Given the description of an element on the screen output the (x, y) to click on. 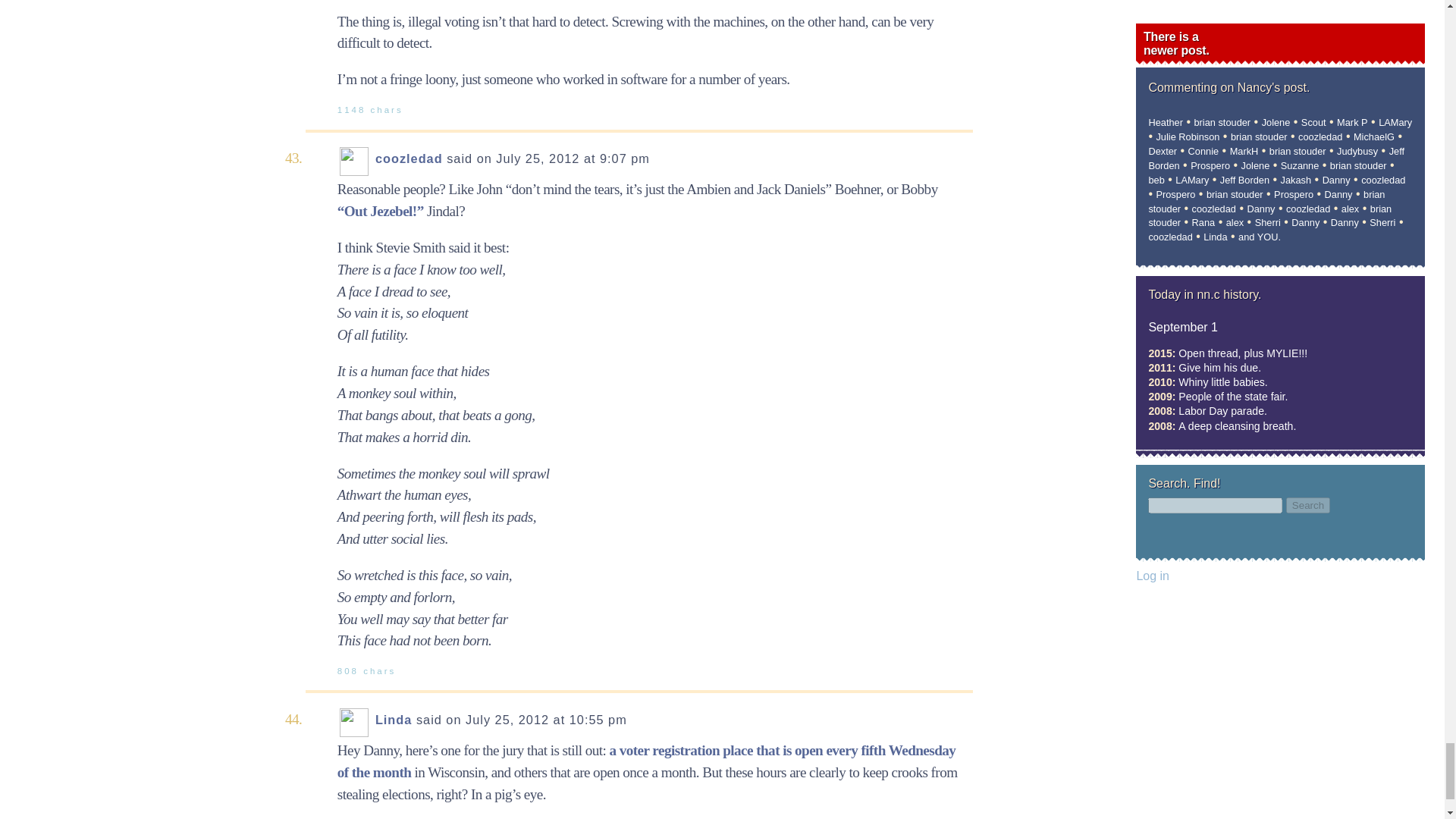
coozledad (408, 158)
Linda (393, 719)
